Given the description of an element on the screen output the (x, y) to click on. 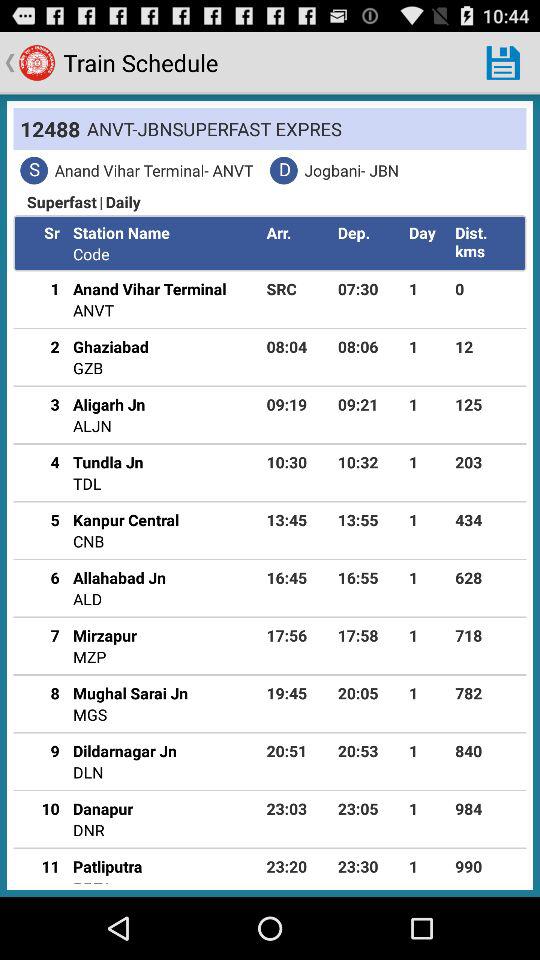
open app to the left of 23:20 icon (107, 866)
